Given the description of an element on the screen output the (x, y) to click on. 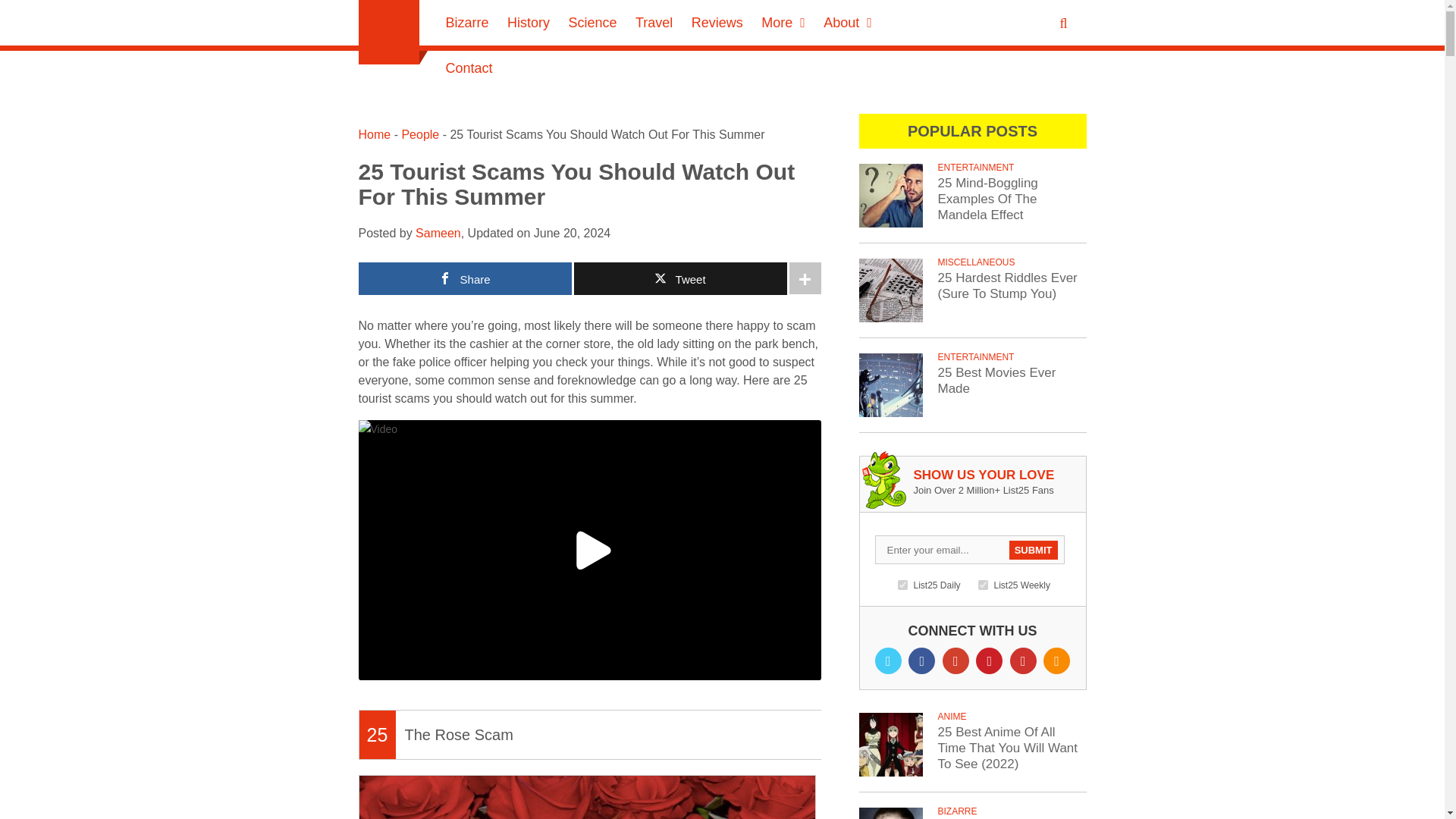
People (420, 133)
Contact (469, 67)
25 tourist scams you should watch out for this summer 2 (589, 550)
About (848, 22)
Home (374, 133)
Sameen (437, 232)
List25 - Better than Top 10 Lists (388, 32)
1 (902, 584)
Submit (1033, 549)
Submit (21, 7)
More (783, 22)
List25 - Consistently Conciliating Curiosity (388, 32)
Science (591, 22)
Bizarre (467, 22)
Share (464, 278)
